Given the description of an element on the screen output the (x, y) to click on. 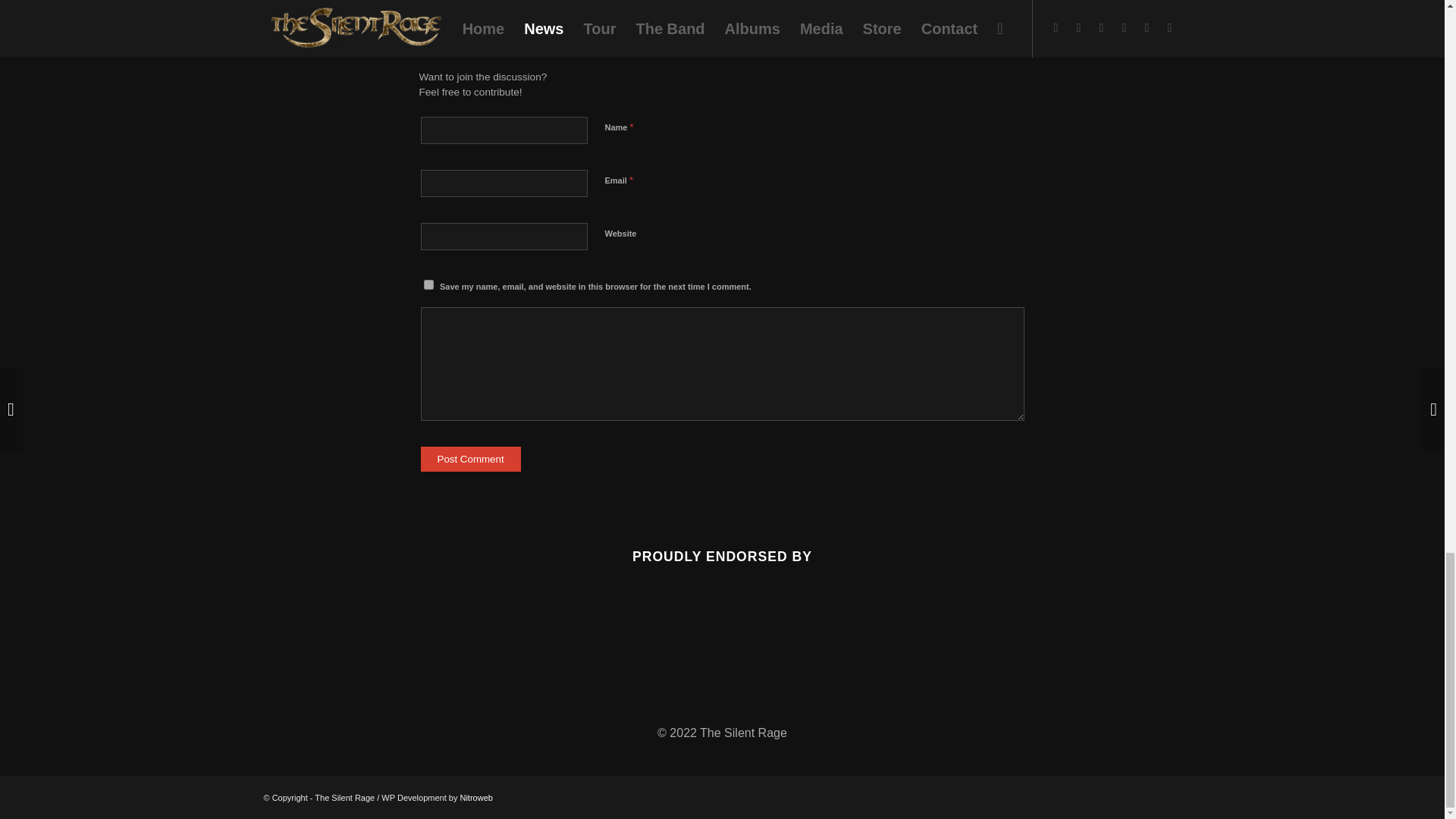
Post Comment (469, 458)
Post Comment (469, 458)
yes (427, 284)
